Given the description of an element on the screen output the (x, y) to click on. 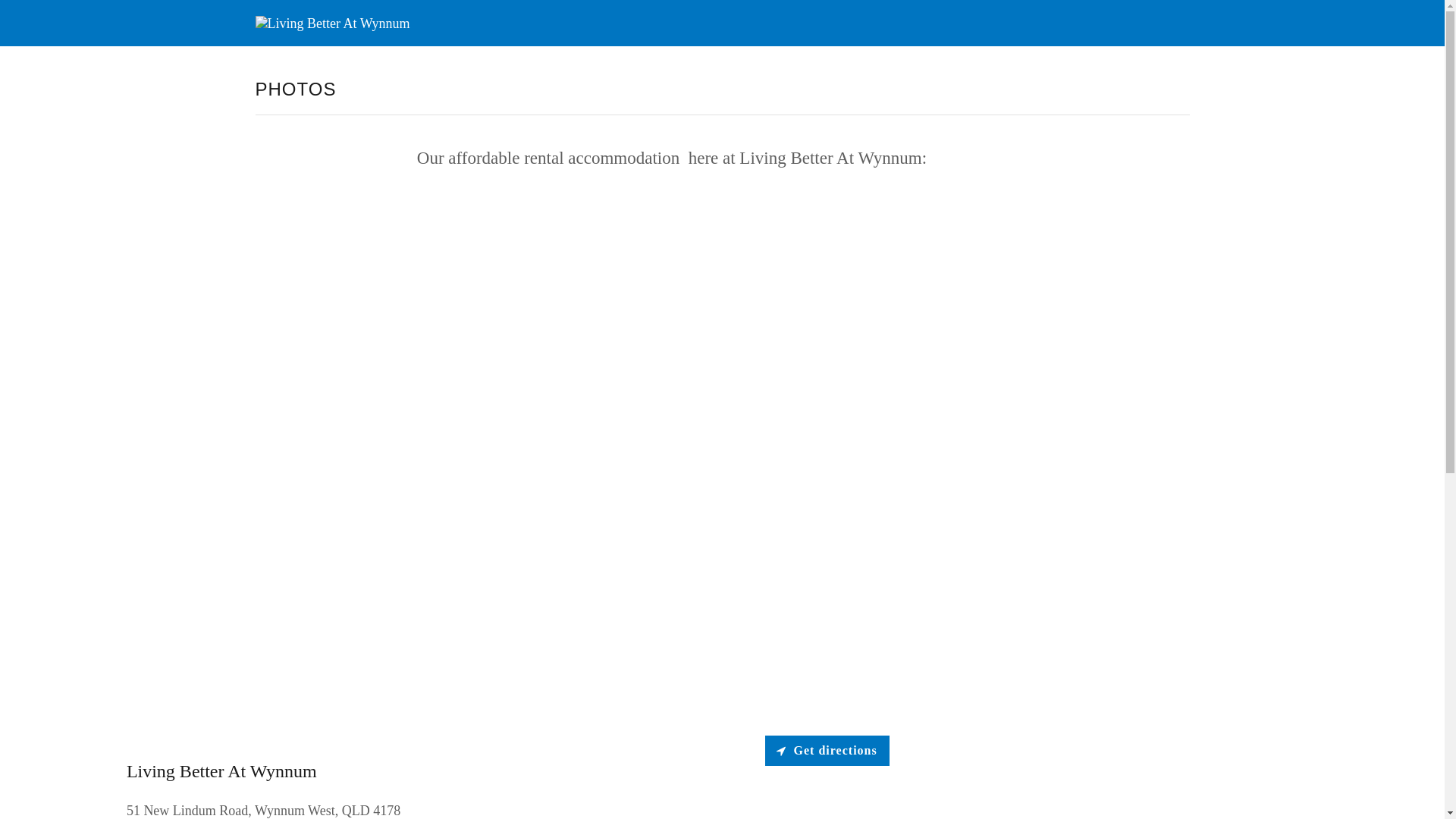
Get directions Element type: text (826, 750)
Living Better At Wynnum   Element type: hover (331, 21)
